Given the description of an element on the screen output the (x, y) to click on. 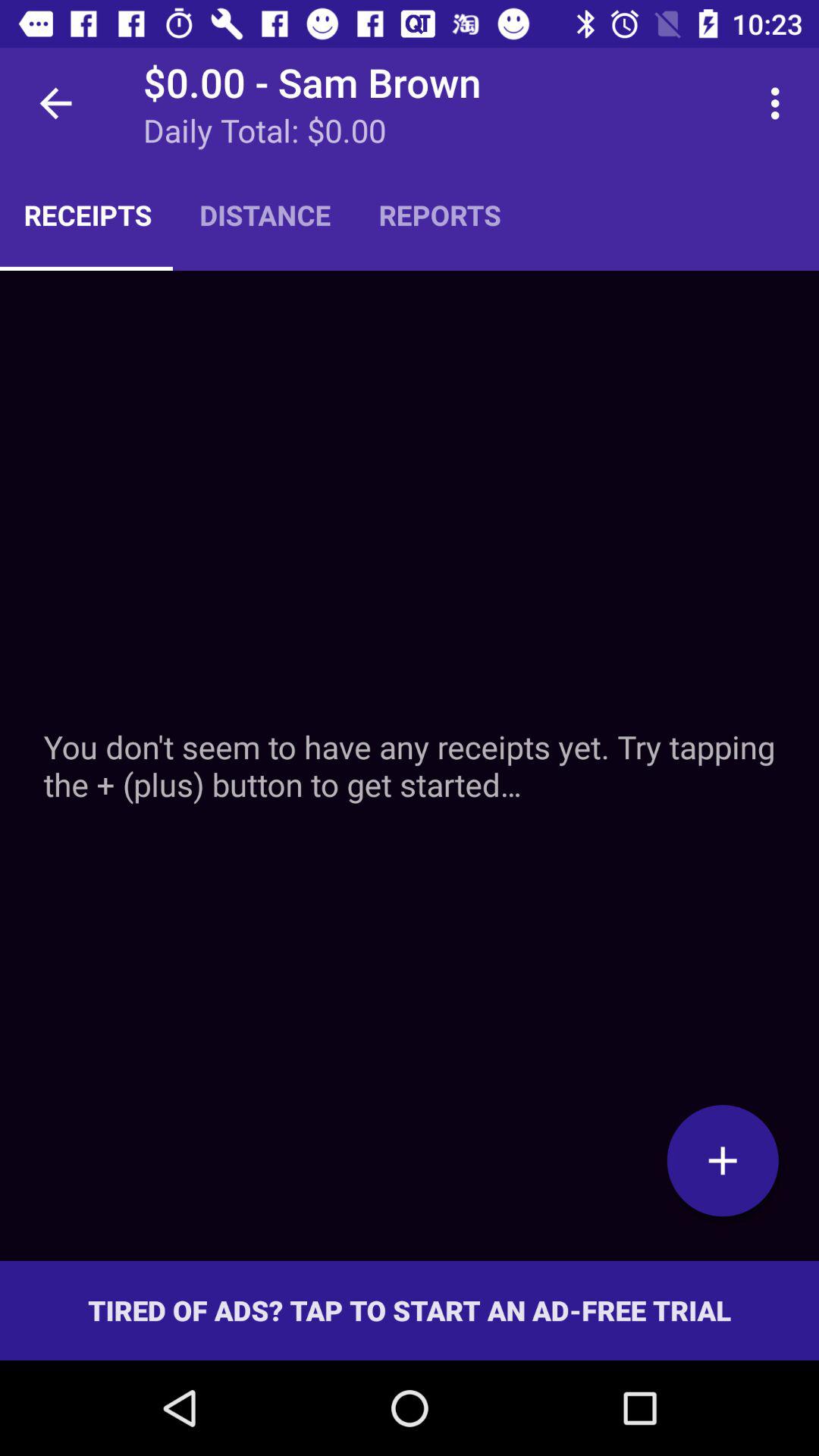
open the icon to the right of the receipts item (264, 214)
